Given the description of an element on the screen output the (x, y) to click on. 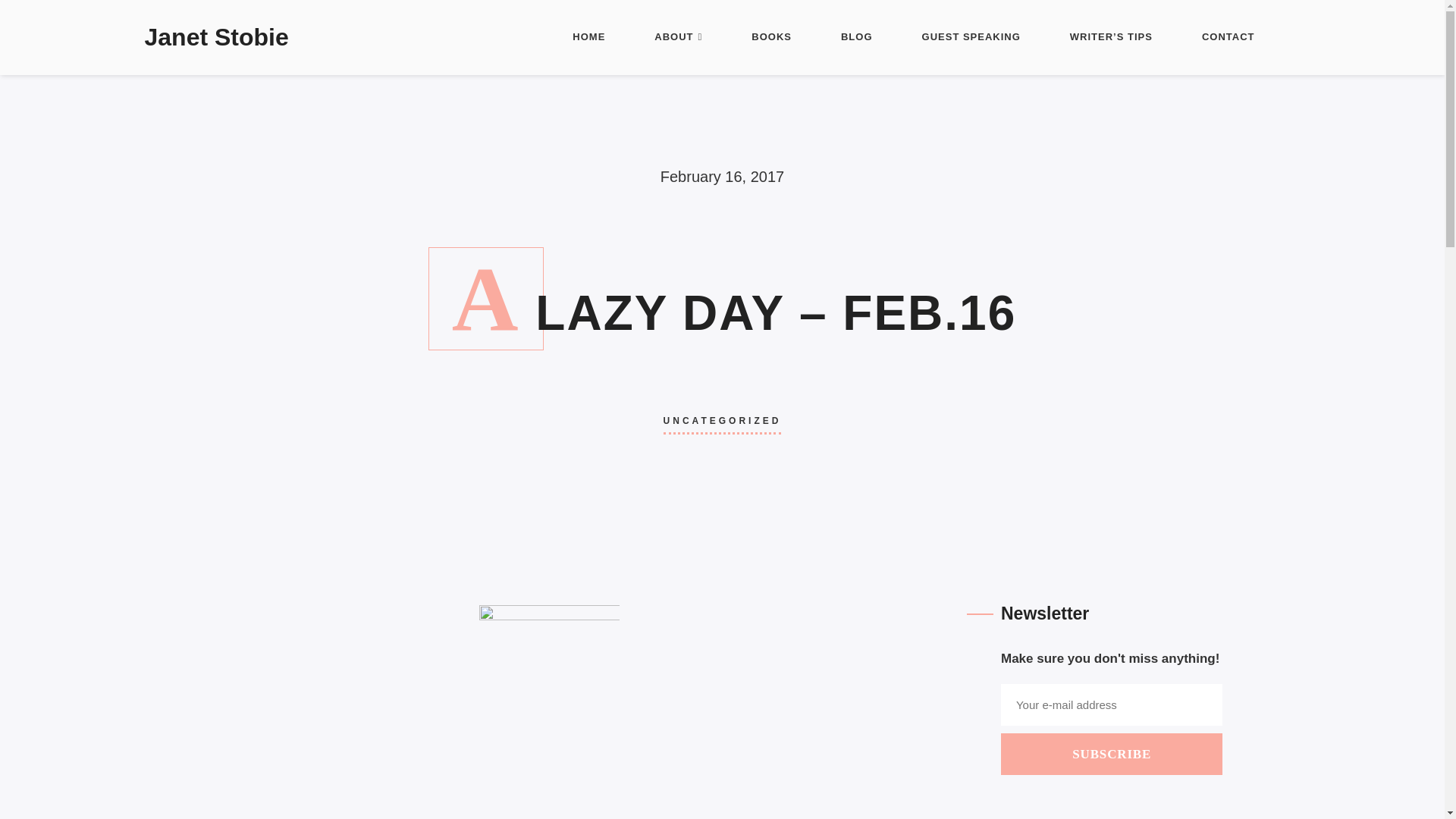
GUEST SPEAKING (970, 37)
SUBSCRIBE (722, 715)
CONTACT (1228, 37)
Janet Stobie (216, 37)
BOOKS (771, 37)
ADMIN (896, 792)
HOME (588, 37)
UNCATEGORIZED (722, 420)
BLOG (856, 37)
NITEOWL CREATIVE INC. (799, 792)
SUBSCRIBE (1112, 753)
ABOUT (677, 37)
